Given the description of an element on the screen output the (x, y) to click on. 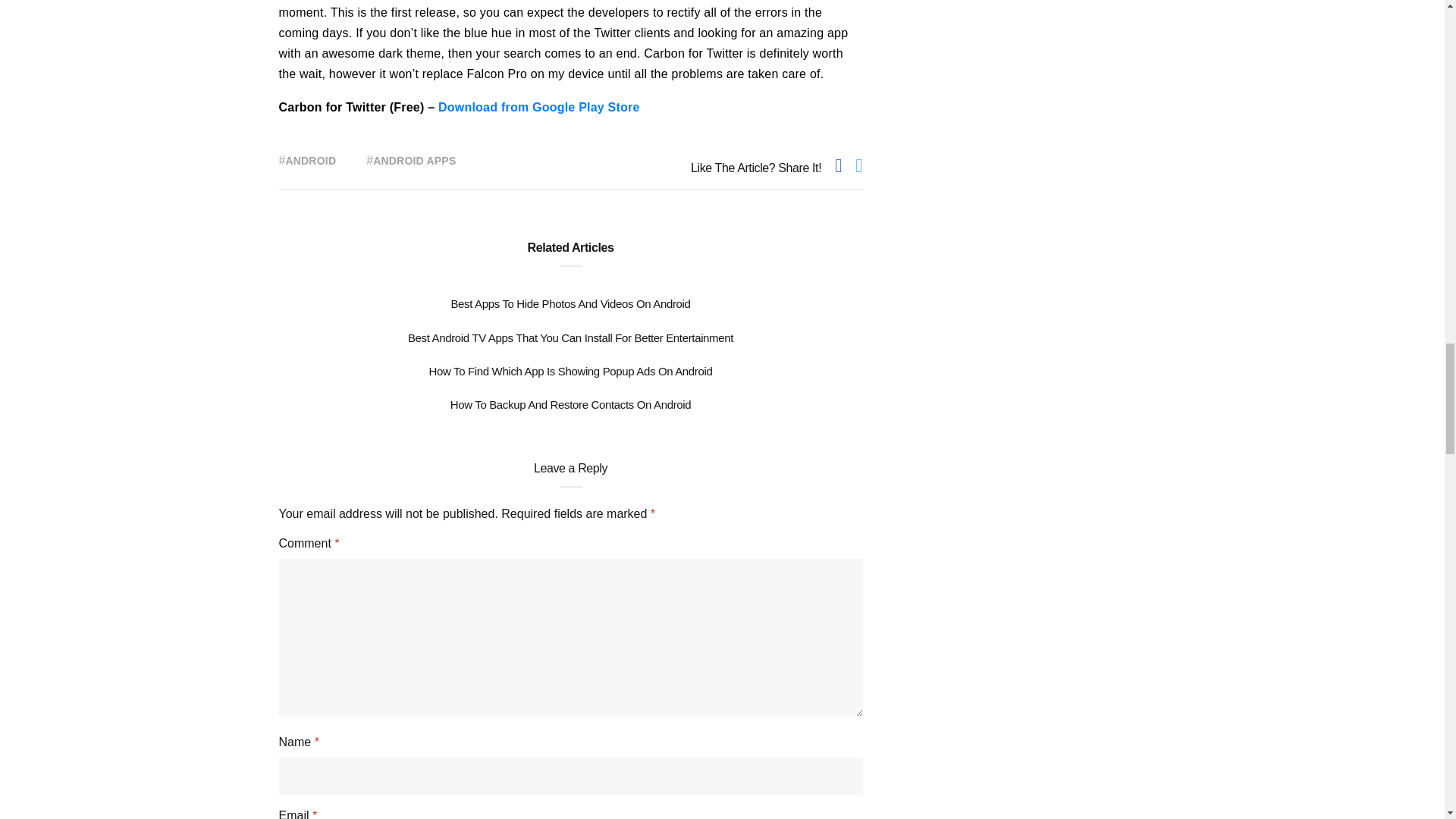
How To Find Which App Is Showing Popup Ads On Android (571, 370)
How To Backup And Restore Contacts On Android (570, 404)
ANDROID (310, 160)
Best Apps To Hide Photos And Videos On Android (569, 303)
ANDROID APPS (413, 160)
Download from Google Play Store (539, 106)
